Given the description of an element on the screen output the (x, y) to click on. 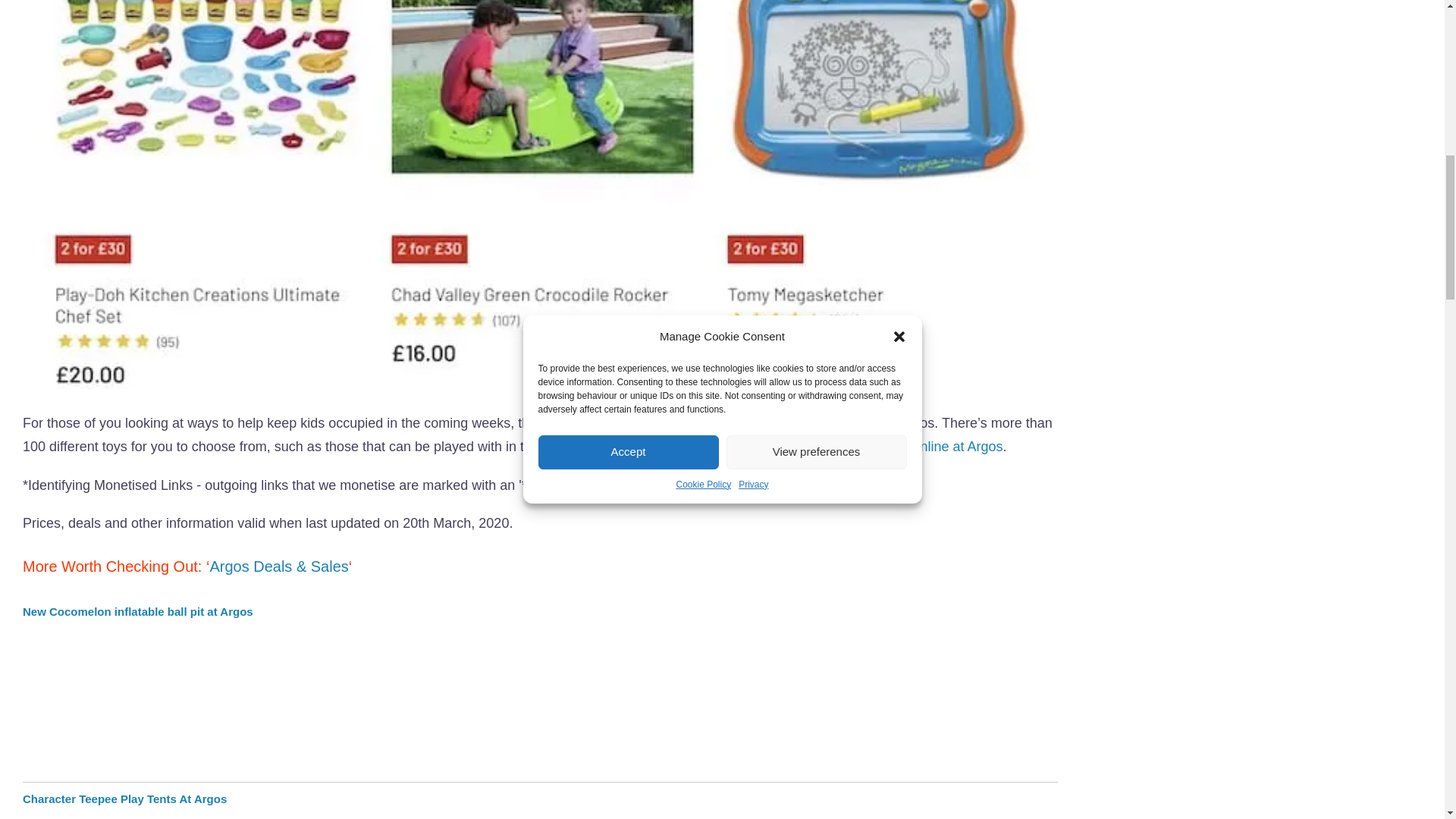
Character Teepee Play Tents At Argos (125, 798)
New Cocomelon inflatable ball pit at Argos (138, 611)
